Given the description of an element on the screen output the (x, y) to click on. 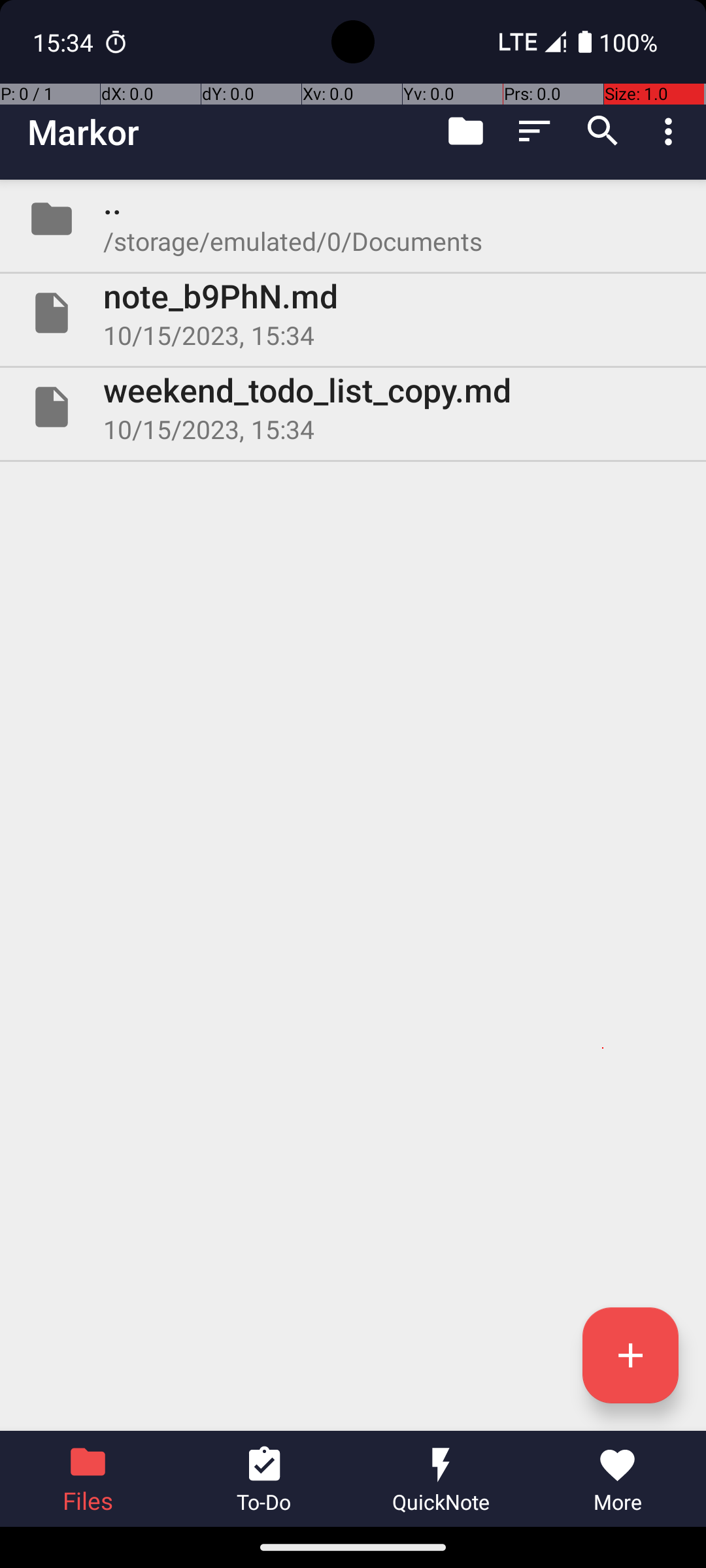
File note_b9PhN.md  Element type: android.widget.LinearLayout (353, 312)
File weekend_todo_list_copy.md  Element type: android.widget.LinearLayout (353, 406)
